Given the description of an element on the screen output the (x, y) to click on. 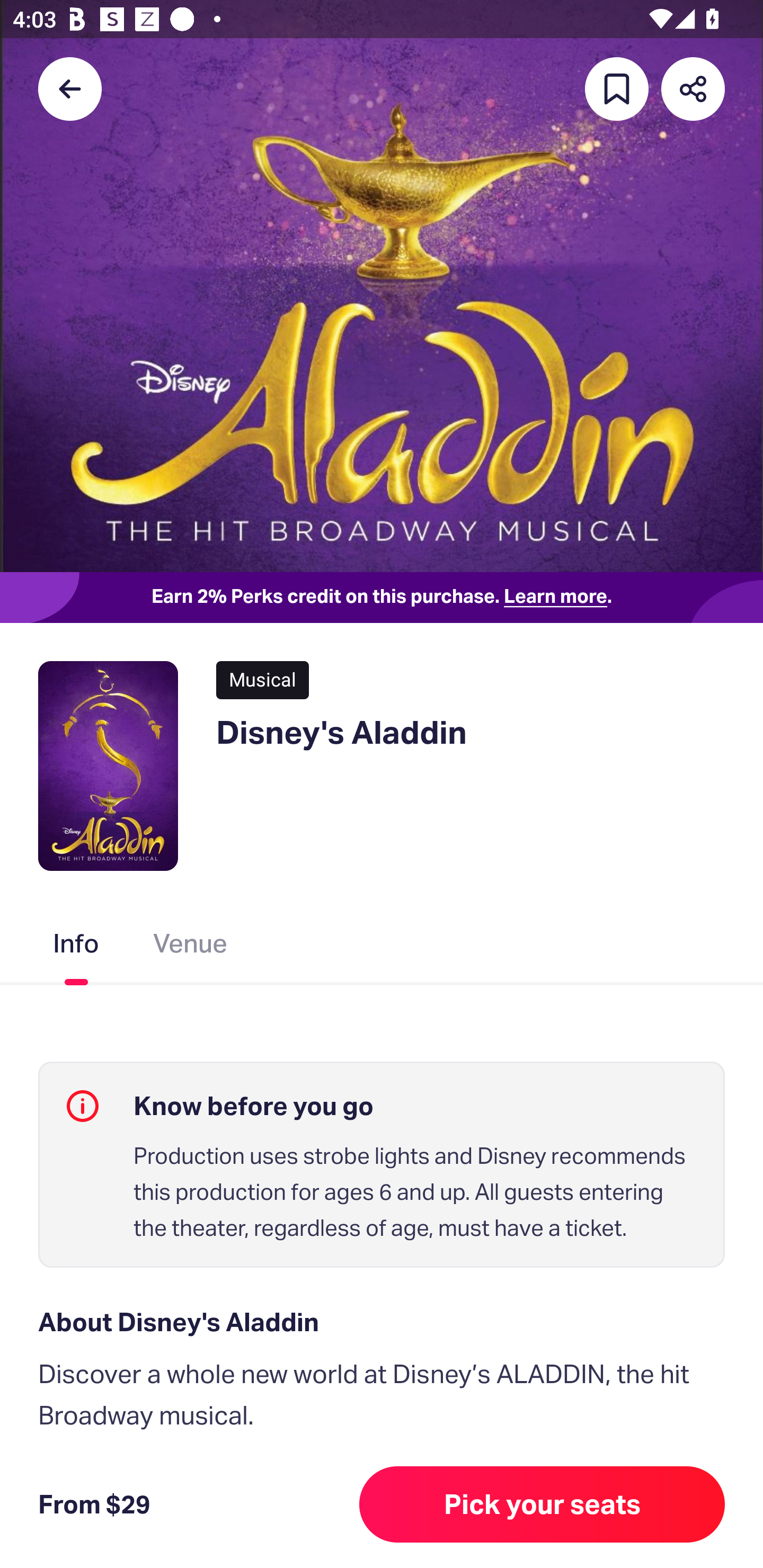
Earn 2% Perks credit on this purchase. Learn more. (381, 597)
Venue (190, 946)
About Disney's Aladdin (381, 1322)
Pick your seats (541, 1504)
